Given the description of an element on the screen output the (x, y) to click on. 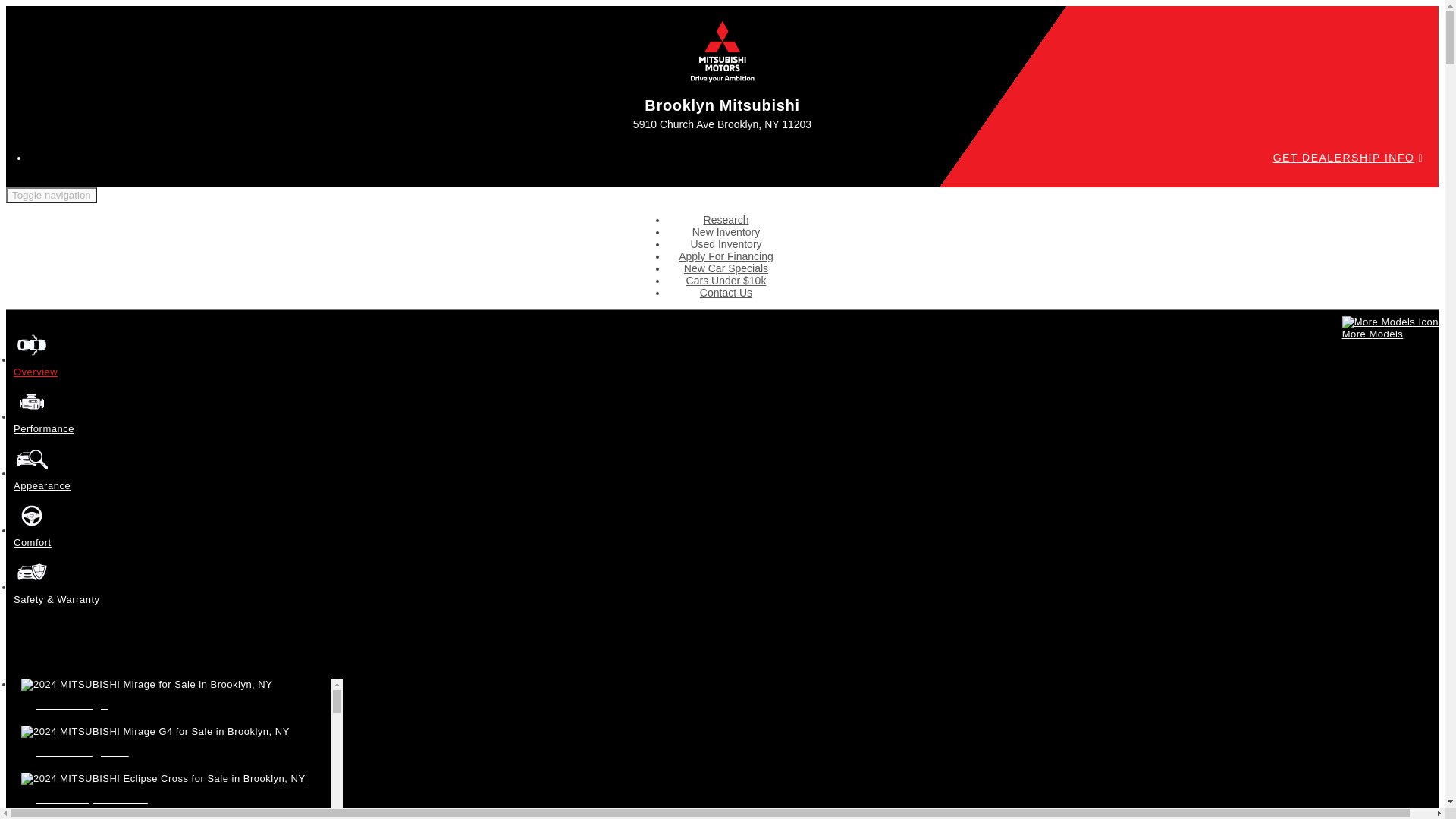
Research (726, 219)
Apply For Financing (725, 256)
More Models (1390, 327)
2024 Eclipse Cross (172, 788)
Comfort (31, 535)
2024 Mirage G4 (172, 741)
Used Inventory (725, 244)
2024 Mirage (172, 694)
GET DEALERSHIP INFO (1347, 157)
Performance (43, 422)
